Given the description of an element on the screen output the (x, y) to click on. 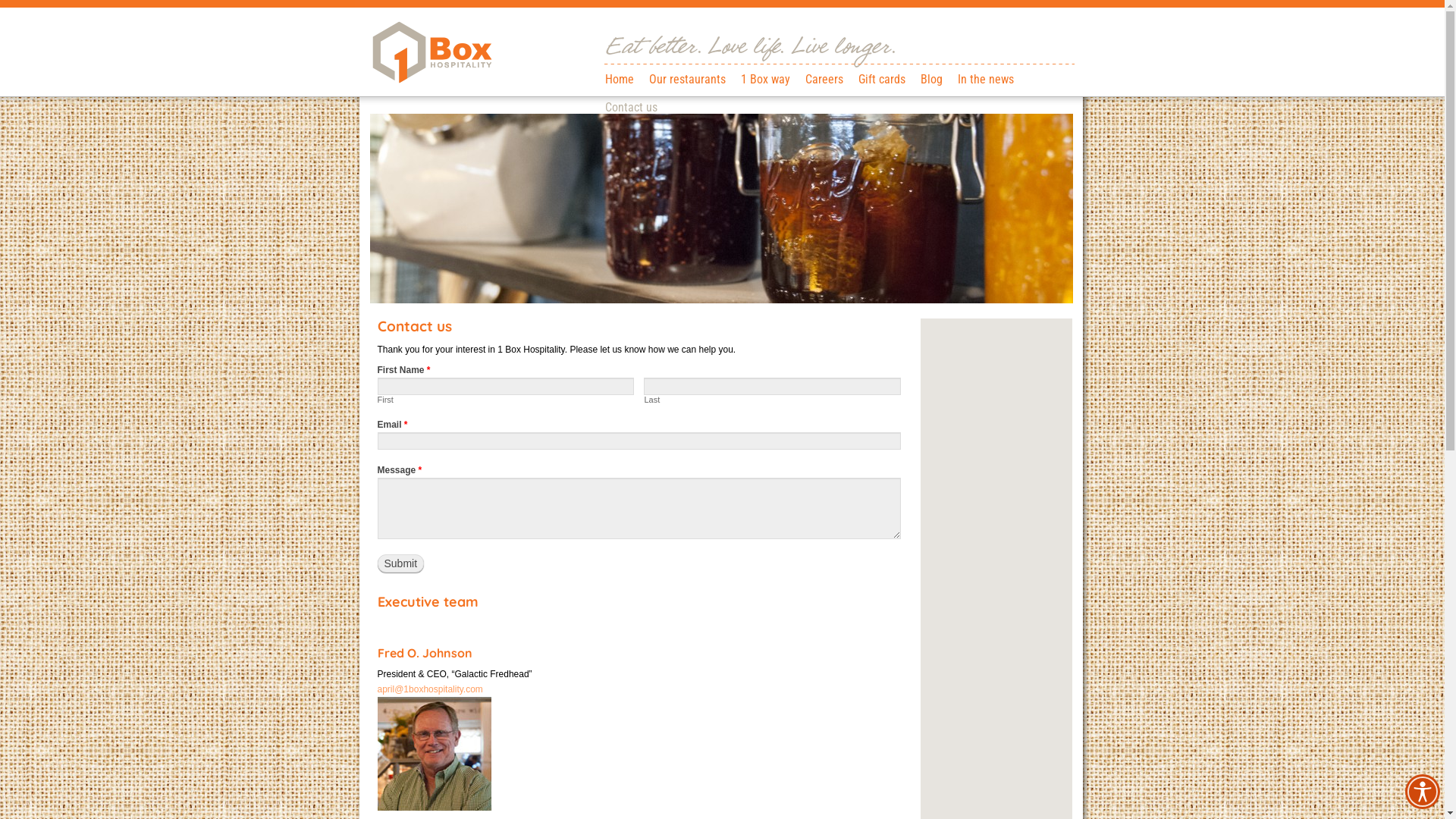
april@1boxhospitality.com Element type: text (430, 689)
In the news Element type: text (984, 77)
1 Box way Element type: text (764, 77)
Gift cards Element type: text (881, 77)
Home Element type: text (619, 77)
Submit Element type: text (400, 563)
Our restaurants Element type: text (687, 77)
Contact us Element type: text (631, 105)
Blog Element type: text (931, 77)
Careers Element type: text (823, 77)
